Given the description of an element on the screen output the (x, y) to click on. 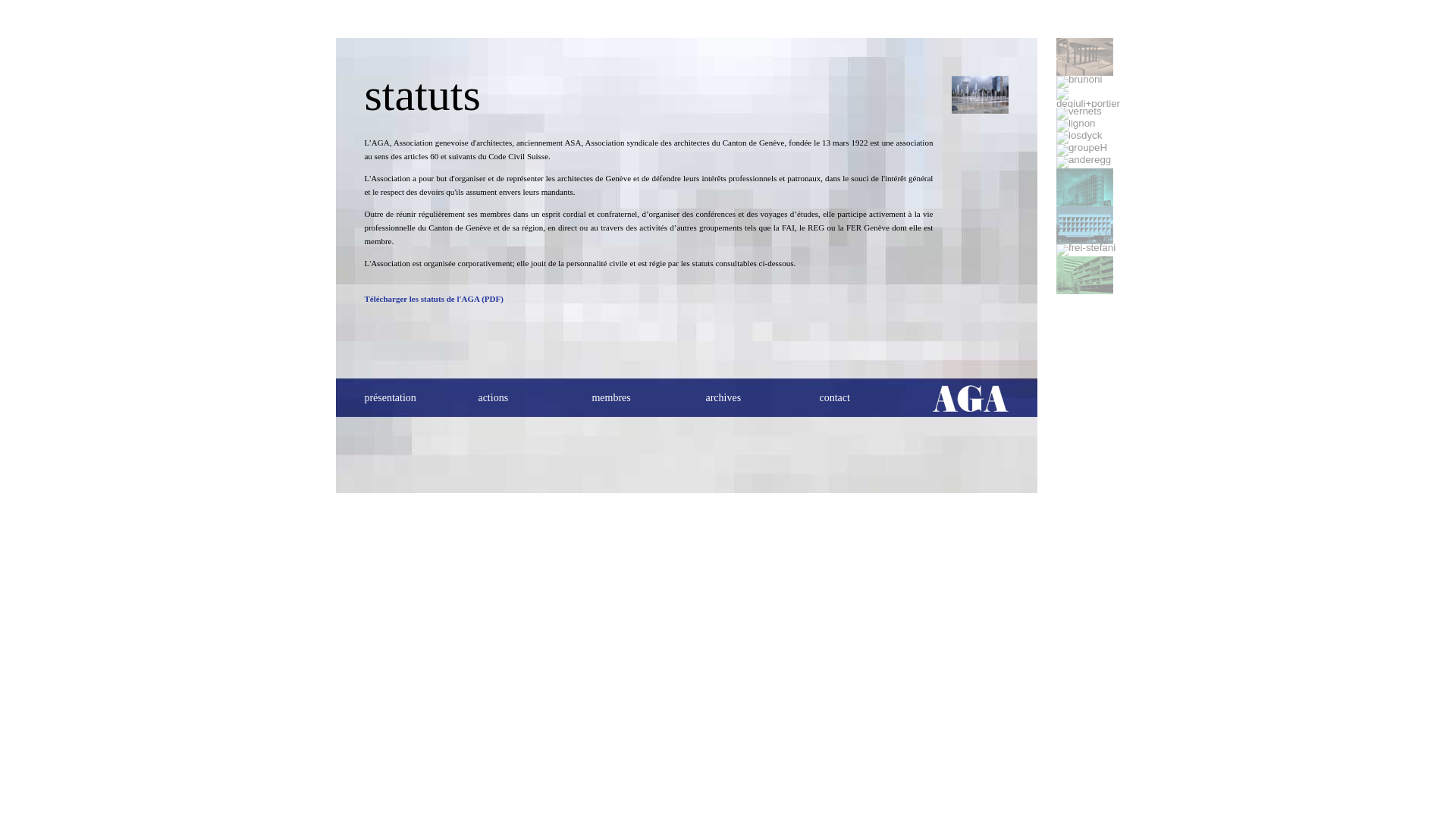
manhattan Element type: hover (1084, 56)
uni2 Element type: hover (1084, 225)
vernets Element type: hover (1078, 113)
losdyck Element type: hover (1078, 137)
degiuli+portier Element type: hover (1088, 97)
brunoni Element type: hover (1078, 81)
lignon Element type: hover (1075, 125)
ortis Element type: hover (979, 94)
meyrin Element type: hover (1084, 275)
anderegg Element type: hover (1083, 162)
frei-stefani Element type: hover (1085, 250)
omm Element type: hover (1084, 187)
groupeH Element type: hover (1081, 150)
